Given the description of an element on the screen output the (x, y) to click on. 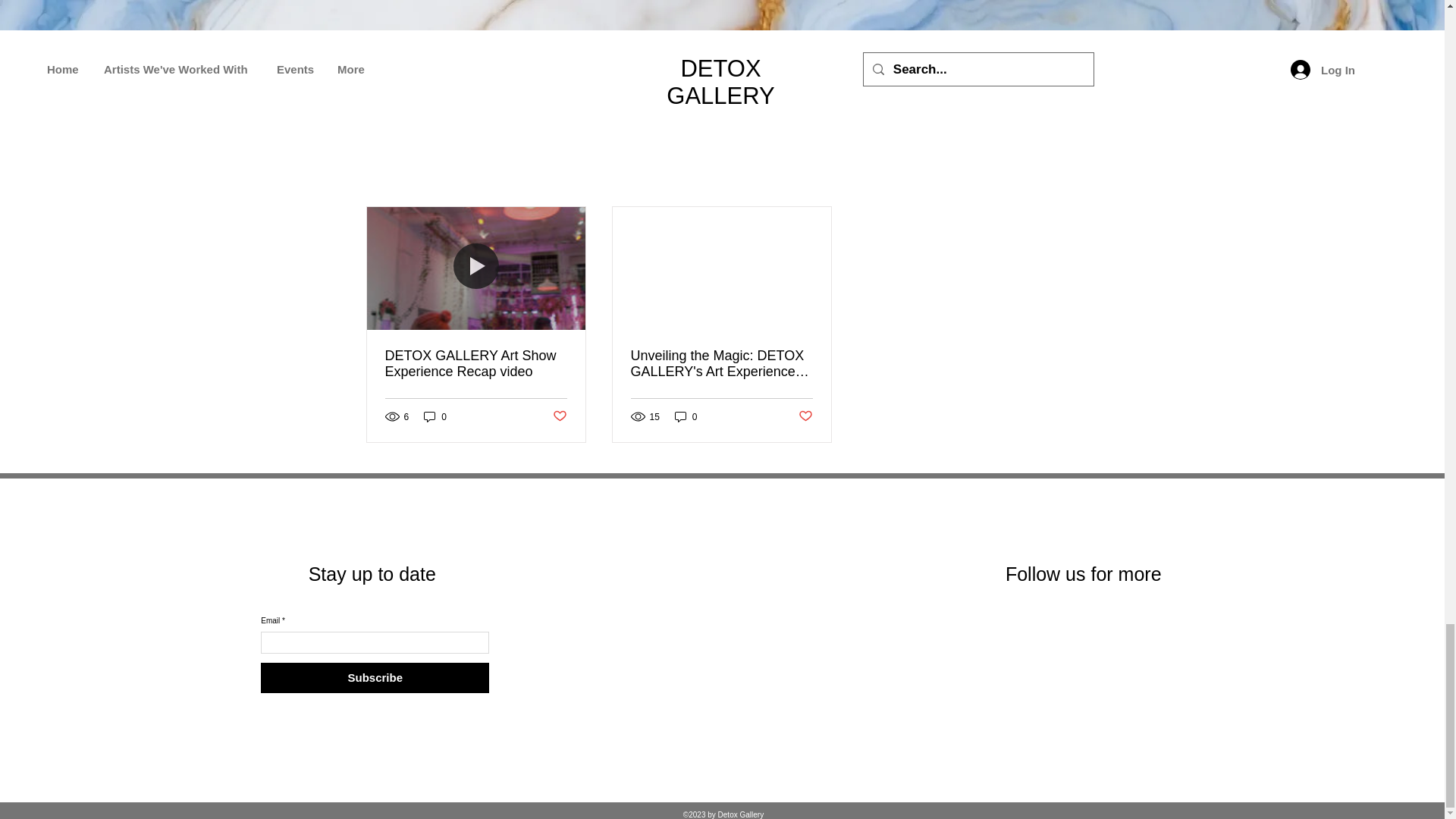
0 (685, 416)
Post not marked as liked (804, 416)
Post not marked as liked (558, 416)
Subscribe (374, 677)
DETOX GALLERY Art Show Experience Recap video (476, 364)
0 (435, 416)
See All (1061, 179)
